Given the description of an element on the screen output the (x, y) to click on. 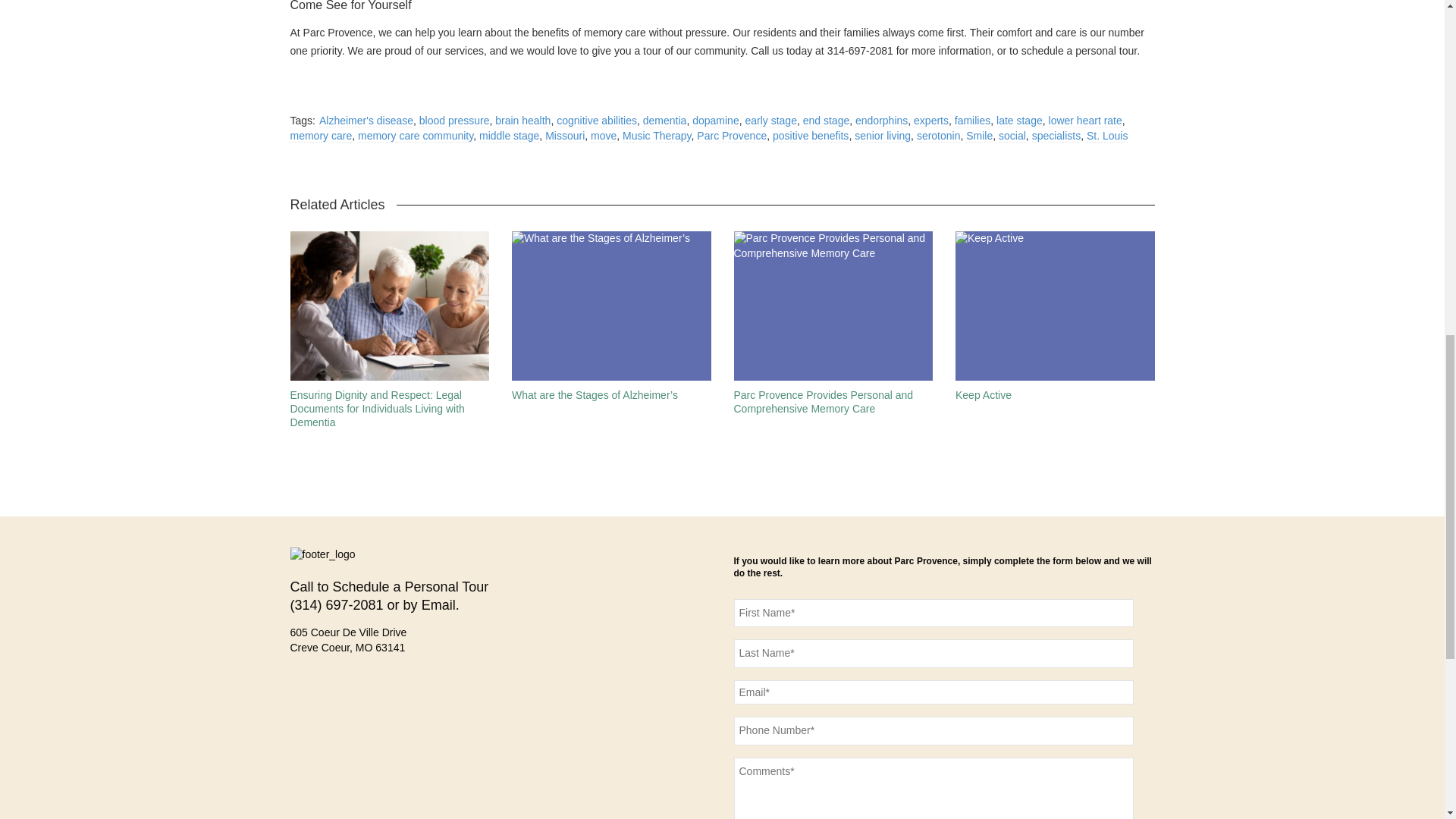
Permanent Link to Keep Active (983, 395)
